Given the description of an element on the screen output the (x, y) to click on. 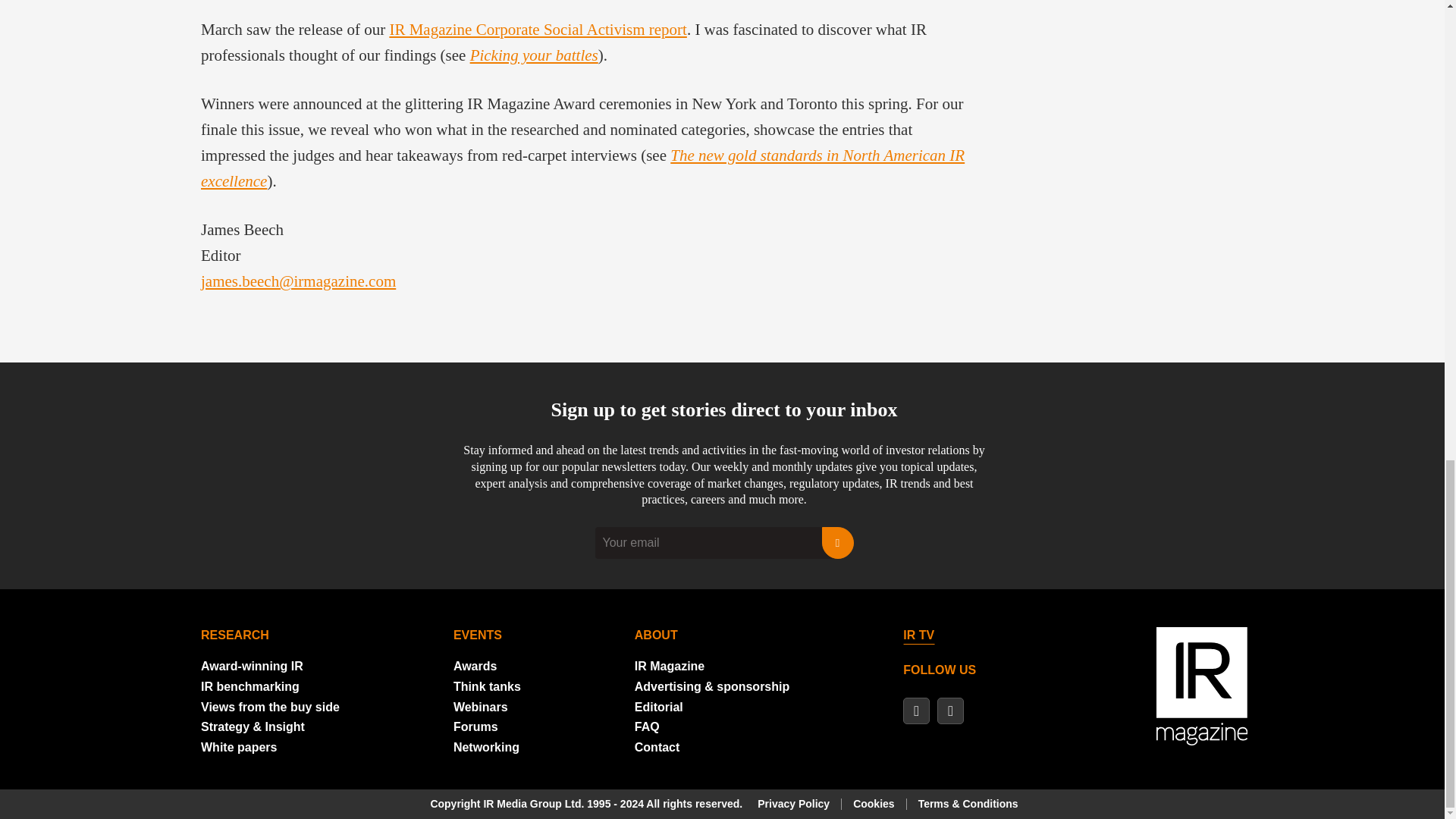
IR Magazine Corporate Social Activism report (536, 29)
Sign Up (837, 542)
Award-winning IR (251, 666)
Picking your battles (534, 54)
The new gold standards in North American IR excellence (581, 168)
